Given the description of an element on the screen output the (x, y) to click on. 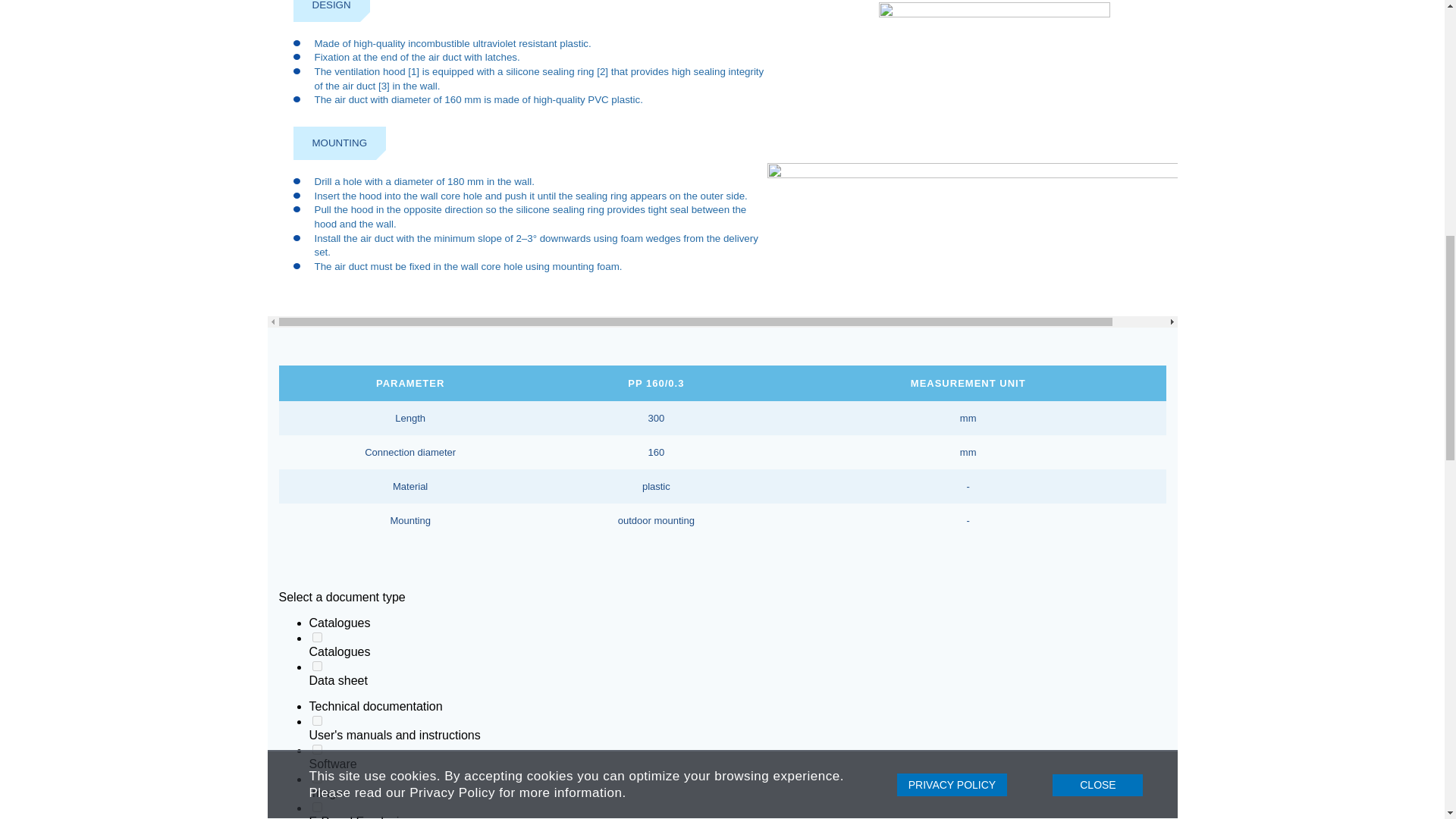
50 (317, 720)
51 (317, 749)
52 (317, 777)
47 (317, 665)
56 (317, 807)
43 (317, 637)
